Given the description of an element on the screen output the (x, y) to click on. 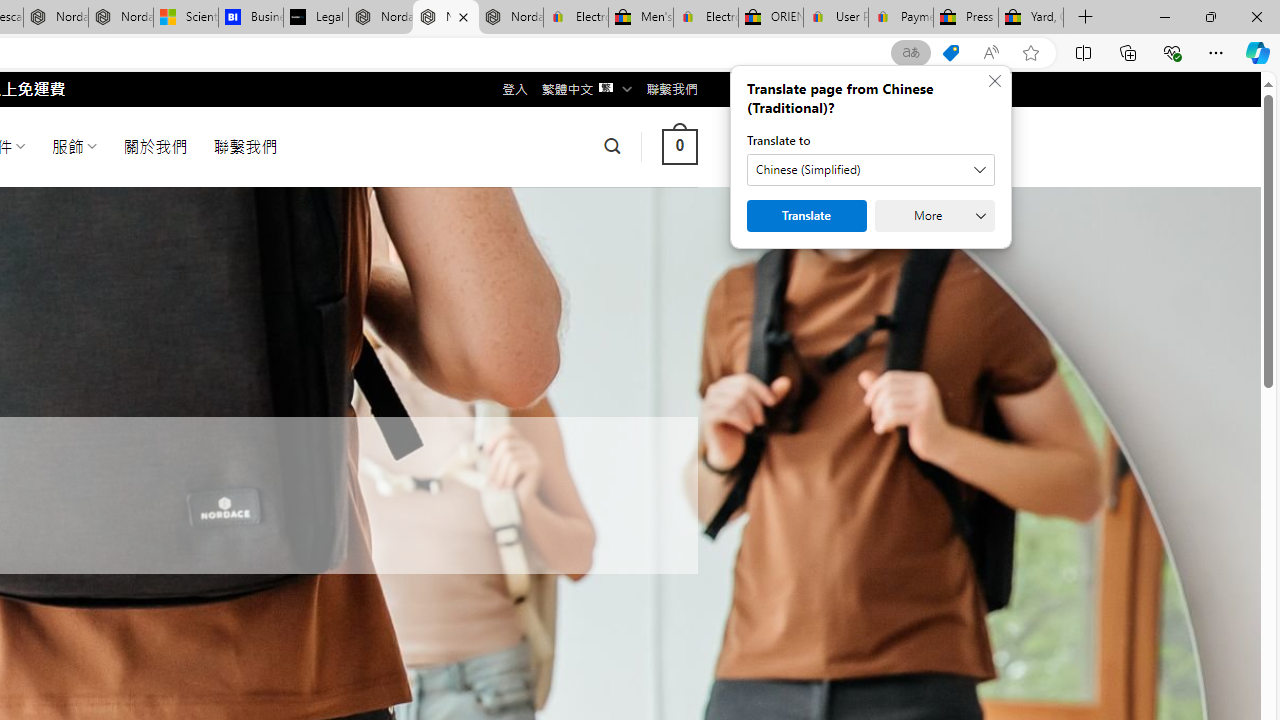
 0  (679, 146)
